Given the description of an element on the screen output the (x, y) to click on. 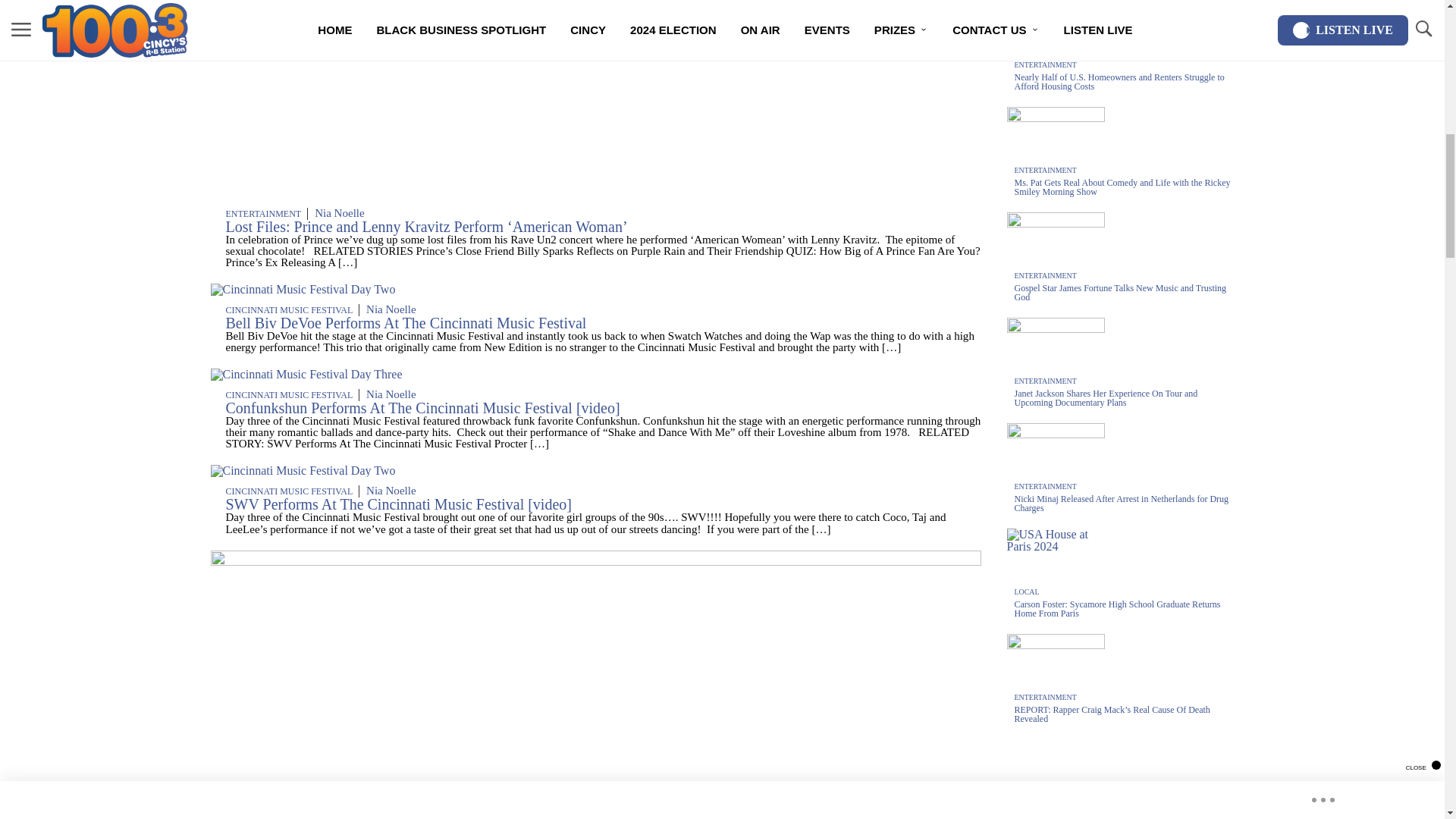
Nia Noelle (391, 309)
Bell Biv DeVoe Performs At The Cincinnati Music Festival (405, 322)
Nia Noelle (339, 213)
CINCINNATI MUSIC FESTIVAL (288, 309)
ENTERTAINMENT (263, 213)
